Given the description of an element on the screen output the (x, y) to click on. 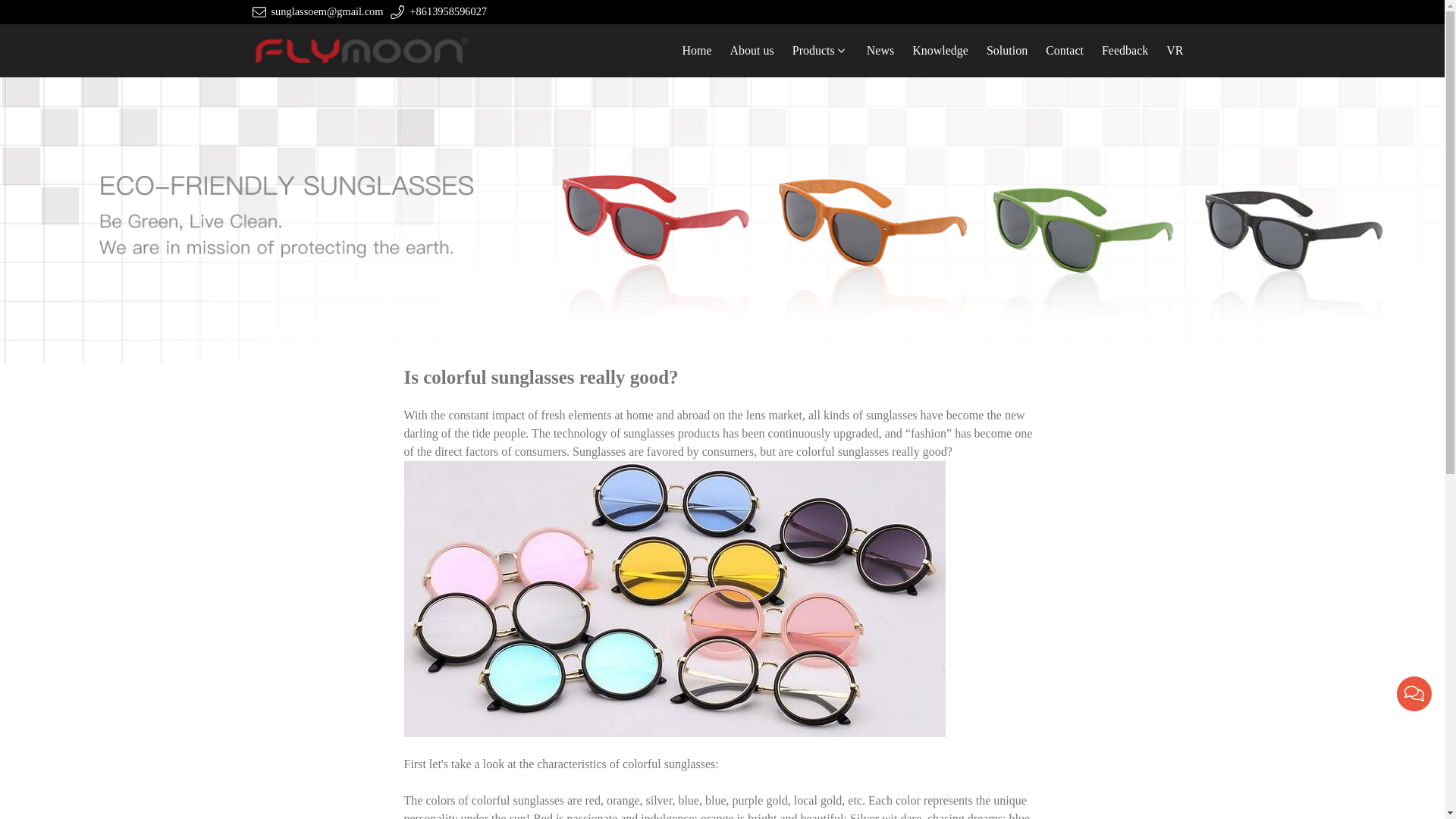
About us (751, 50)
Solution (1006, 50)
Feedback (1125, 50)
Knowledge (939, 50)
Contact (1064, 50)
Home (696, 50)
Products (820, 50)
News (879, 50)
